Given the description of an element on the screen output the (x, y) to click on. 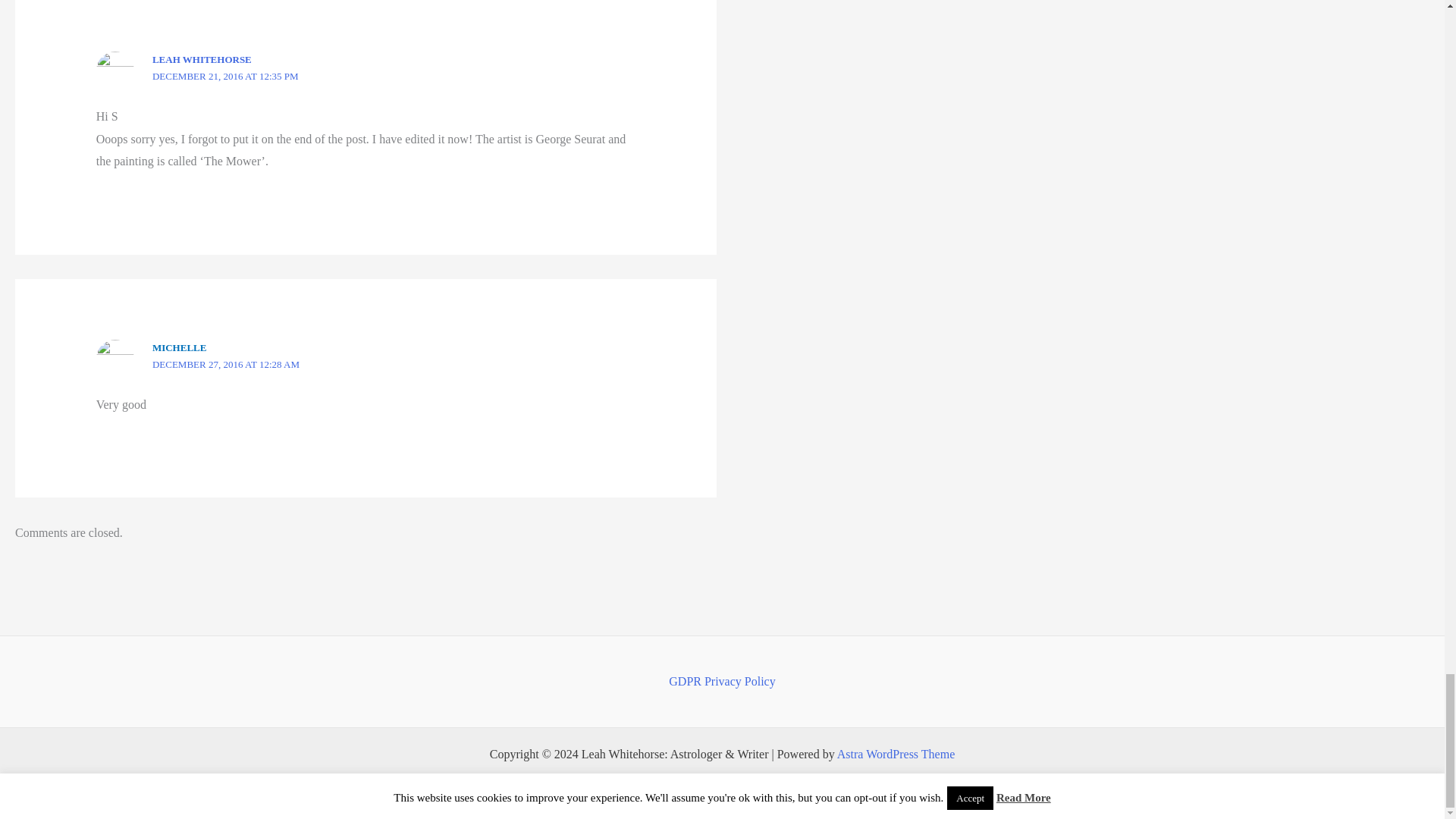
DECEMBER 21, 2016 AT 12:35 PM (225, 75)
LEAH WHITEHORSE (201, 59)
DECEMBER 27, 2016 AT 12:28 AM (225, 364)
